Given the description of an element on the screen output the (x, y) to click on. 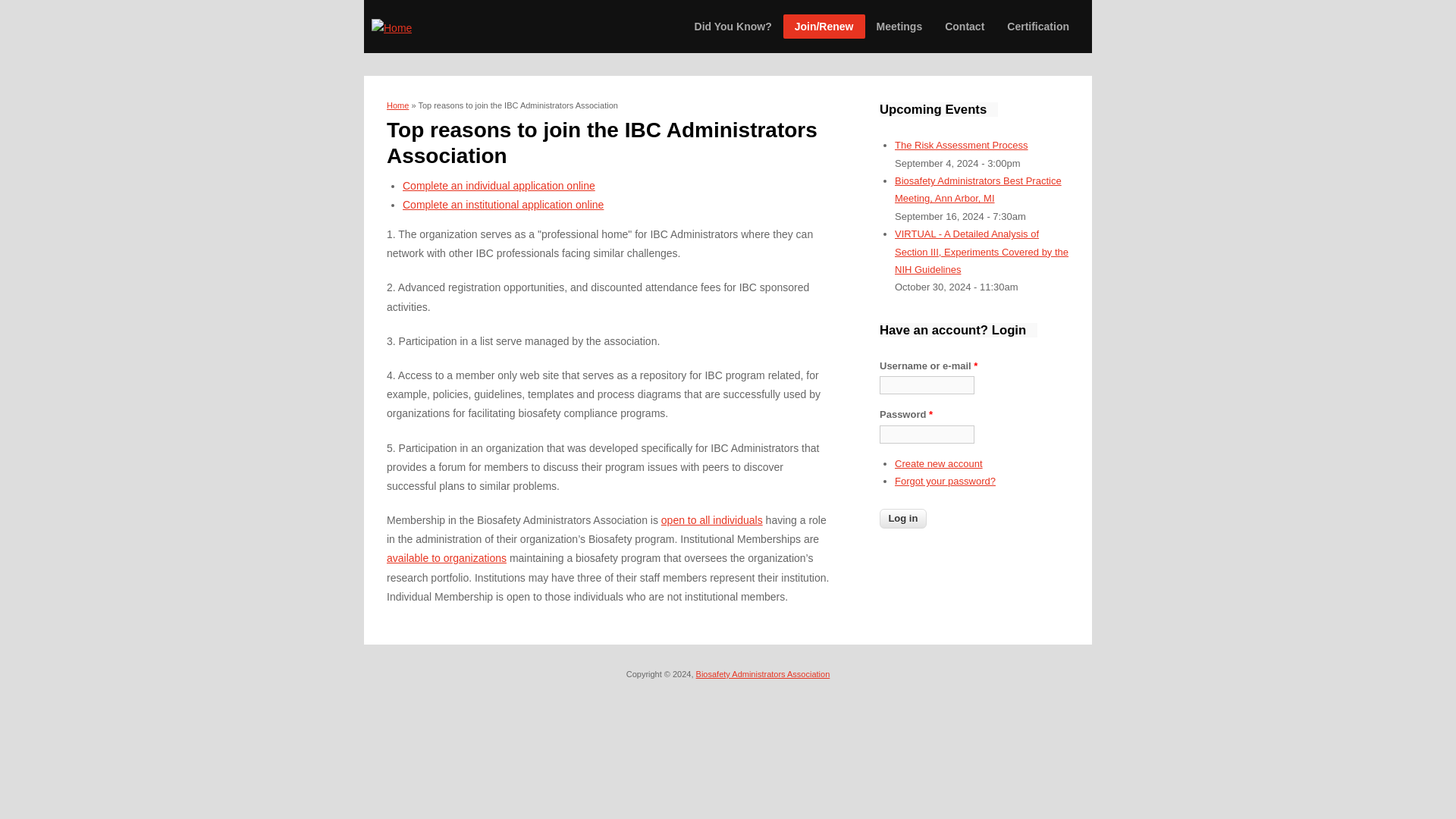
Create a new user account. (938, 463)
Log in (902, 518)
Complete an individual application online (499, 185)
Certification (1037, 26)
Home (391, 27)
Log in (902, 518)
available to organizations (446, 558)
Create new account (938, 463)
Did You Know? (732, 26)
Request new password via e-mail. (945, 480)
